Given the description of an element on the screen output the (x, y) to click on. 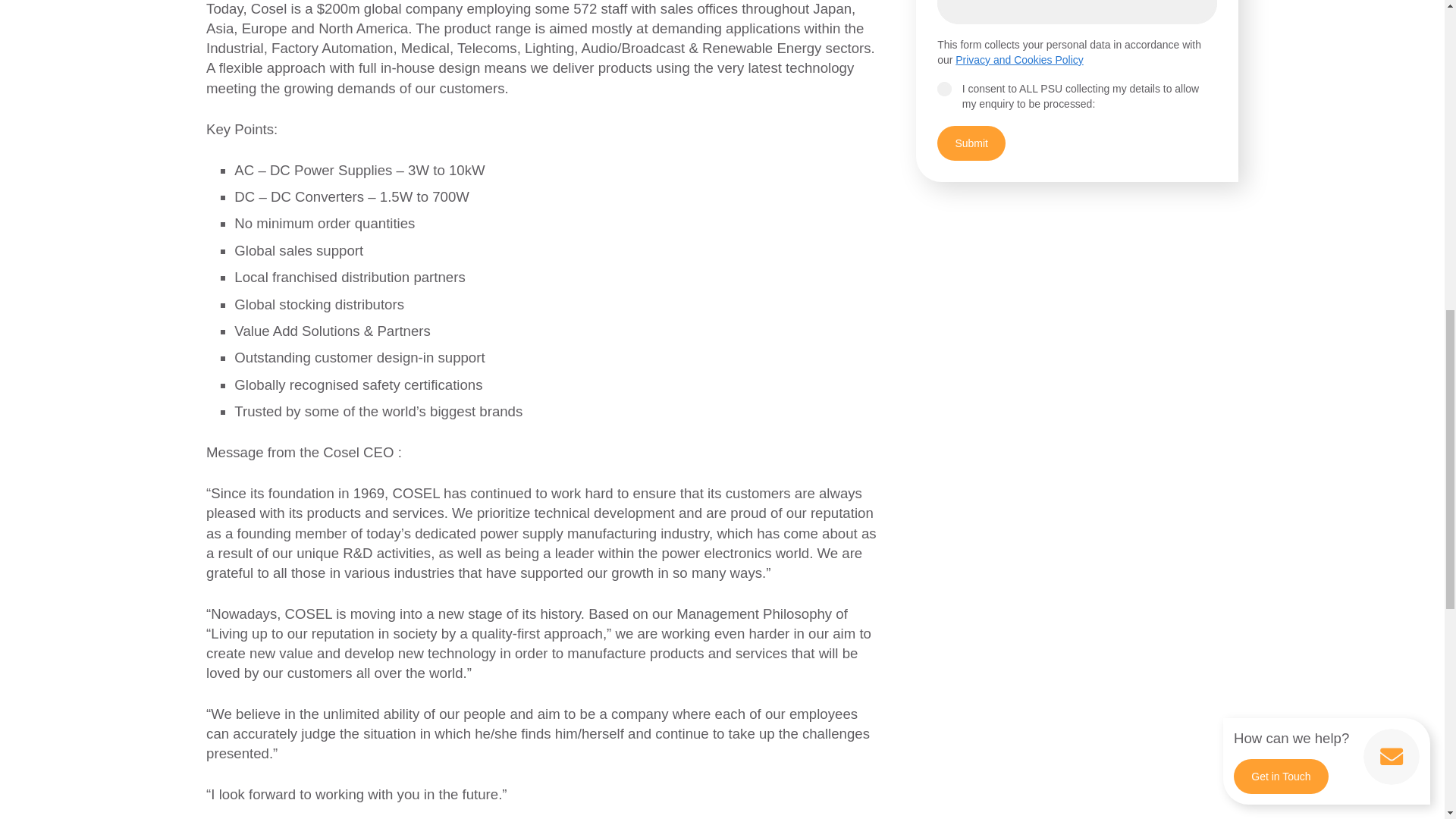
Privacy and Cookies Policy (1019, 60)
Submit (971, 143)
1 (944, 88)
